Given the description of an element on the screen output the (x, y) to click on. 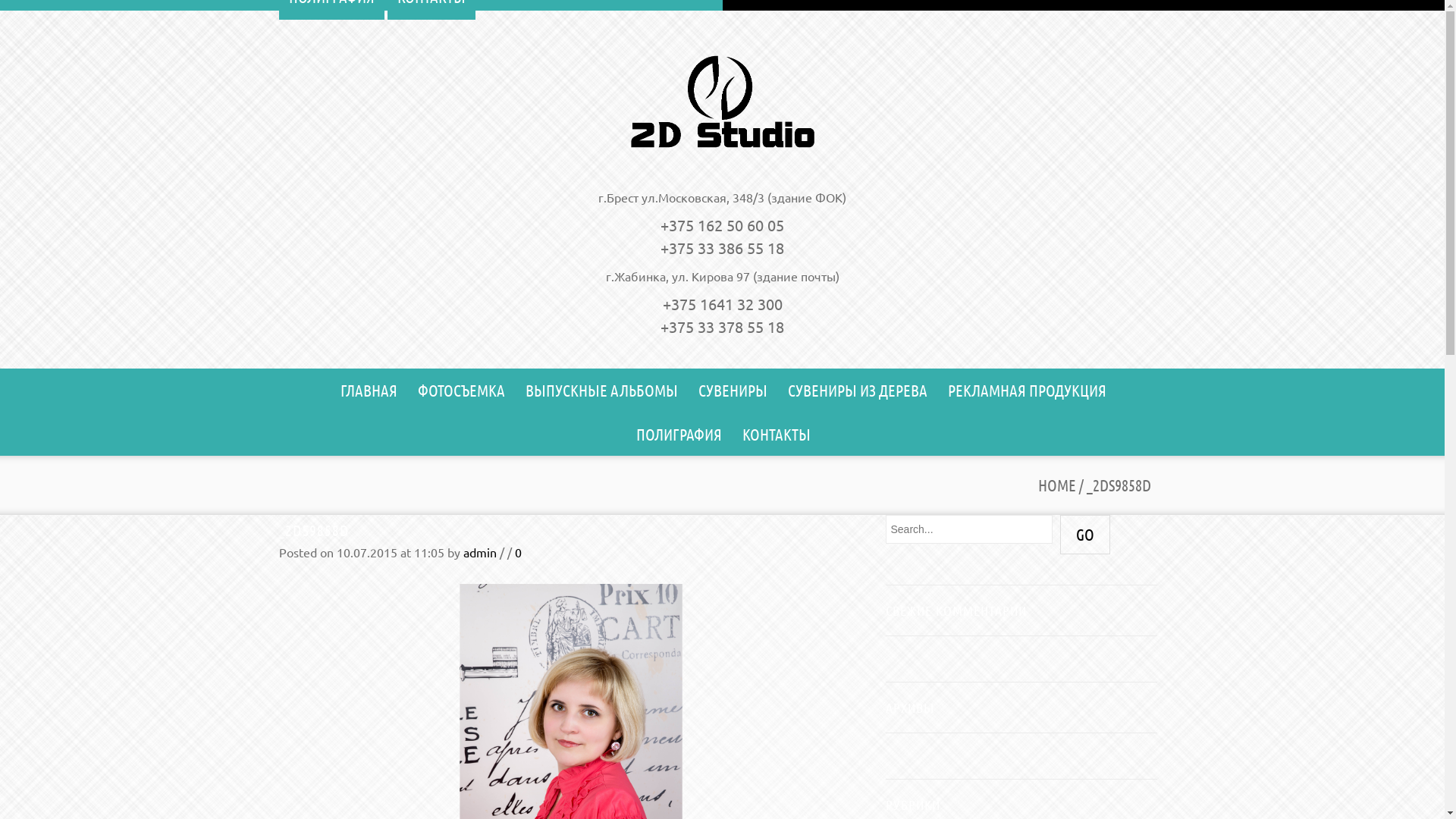
_2DS9858d Element type: hover (570, 748)
HOME Element type: text (1056, 484)
admin Element type: text (478, 551)
0 Element type: text (517, 551)
Go Element type: text (1085, 534)
_2DS9858D Element type: text (314, 529)
